Given the description of an element on the screen output the (x, y) to click on. 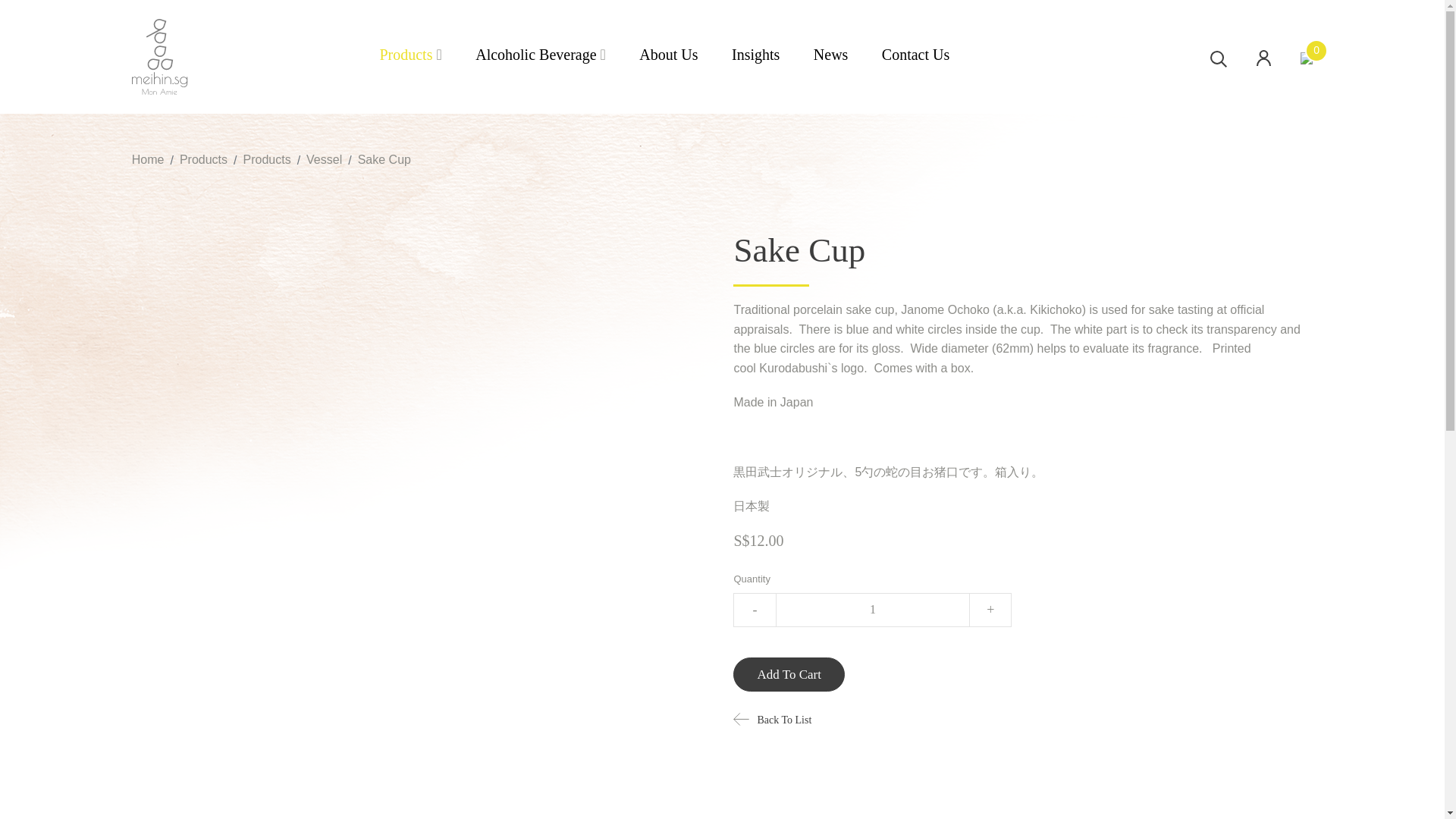
Products (203, 159)
Sake Cup (384, 159)
Home (148, 159)
Add To Cart (788, 674)
Back To List (771, 719)
Products (266, 159)
- (753, 609)
Contact Us (915, 55)
Add To Cart (788, 674)
1 (871, 609)
About Us (668, 55)
Insights (755, 55)
News (830, 55)
Vessel (323, 159)
